Given the description of an element on the screen output the (x, y) to click on. 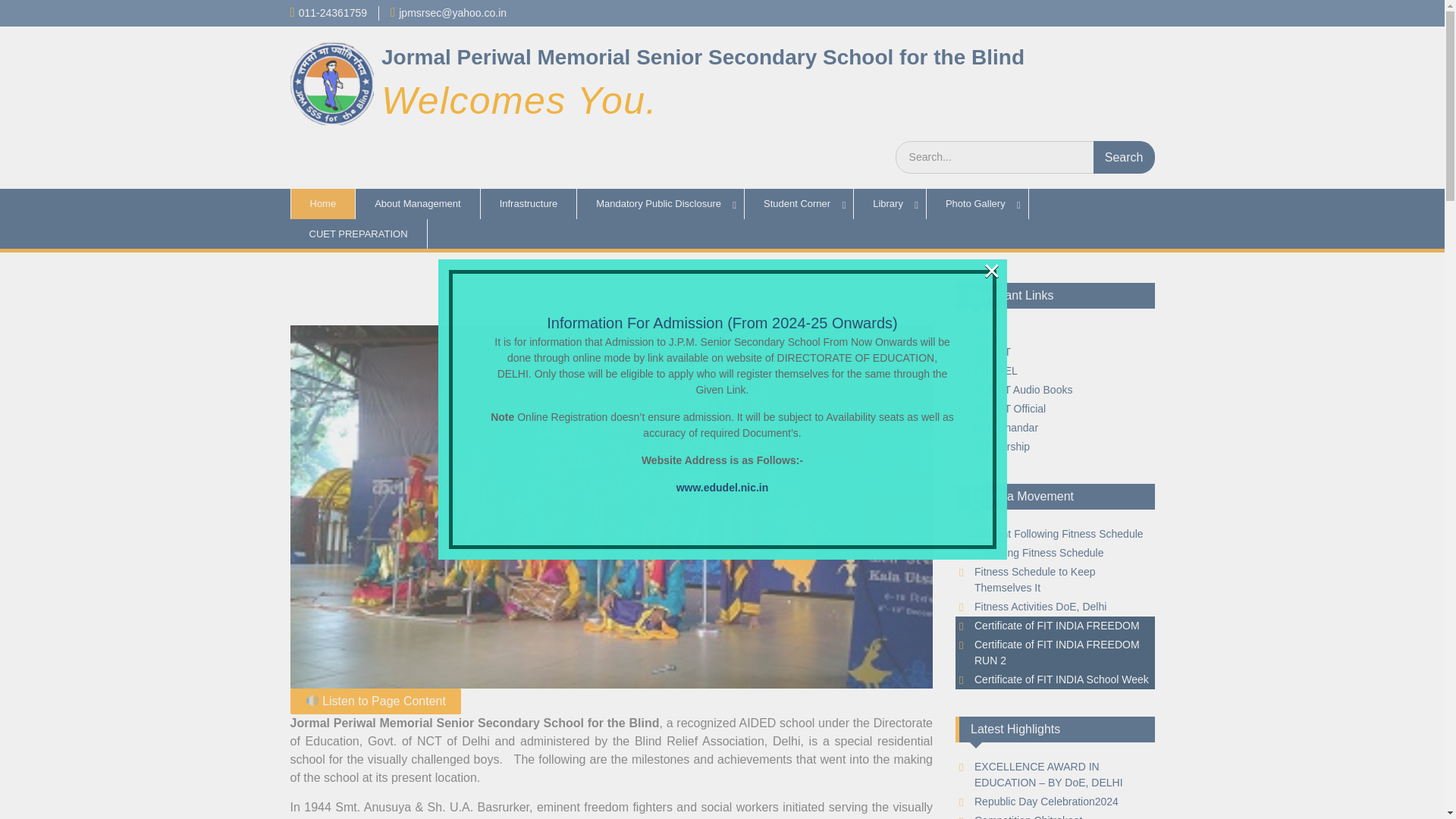
Search (1123, 156)
Search for: (1024, 156)
About Management (417, 204)
Student Corner (798, 204)
011-24361759 (332, 12)
Search (1123, 156)
Infrastructure (529, 204)
Home (322, 204)
Library (889, 204)
Mandatory Public Disclosure (660, 204)
Search (1123, 156)
